Given the description of an element on the screen output the (x, y) to click on. 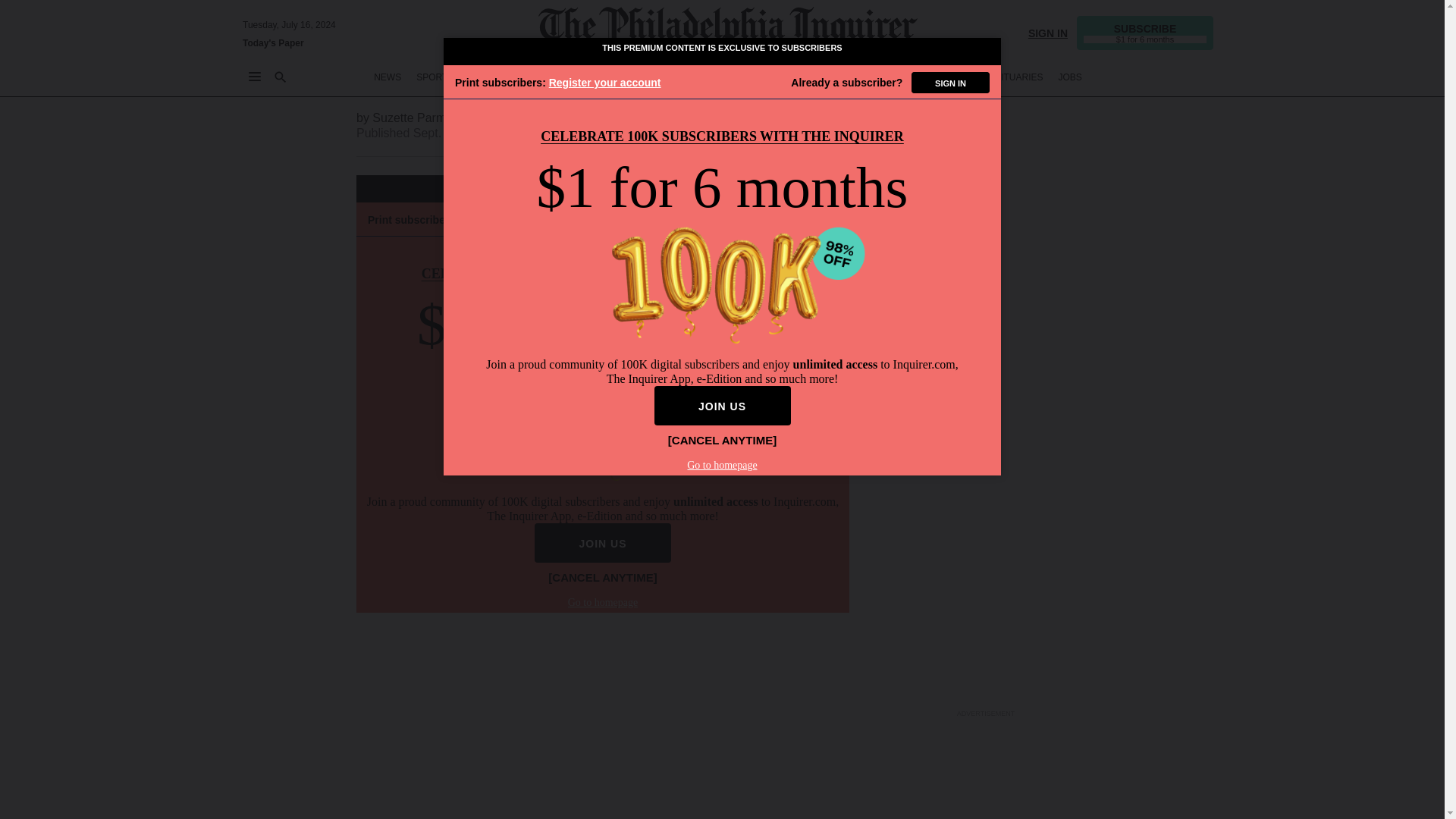
3rd party ad content (985, 83)
